Given the description of an element on the screen output the (x, y) to click on. 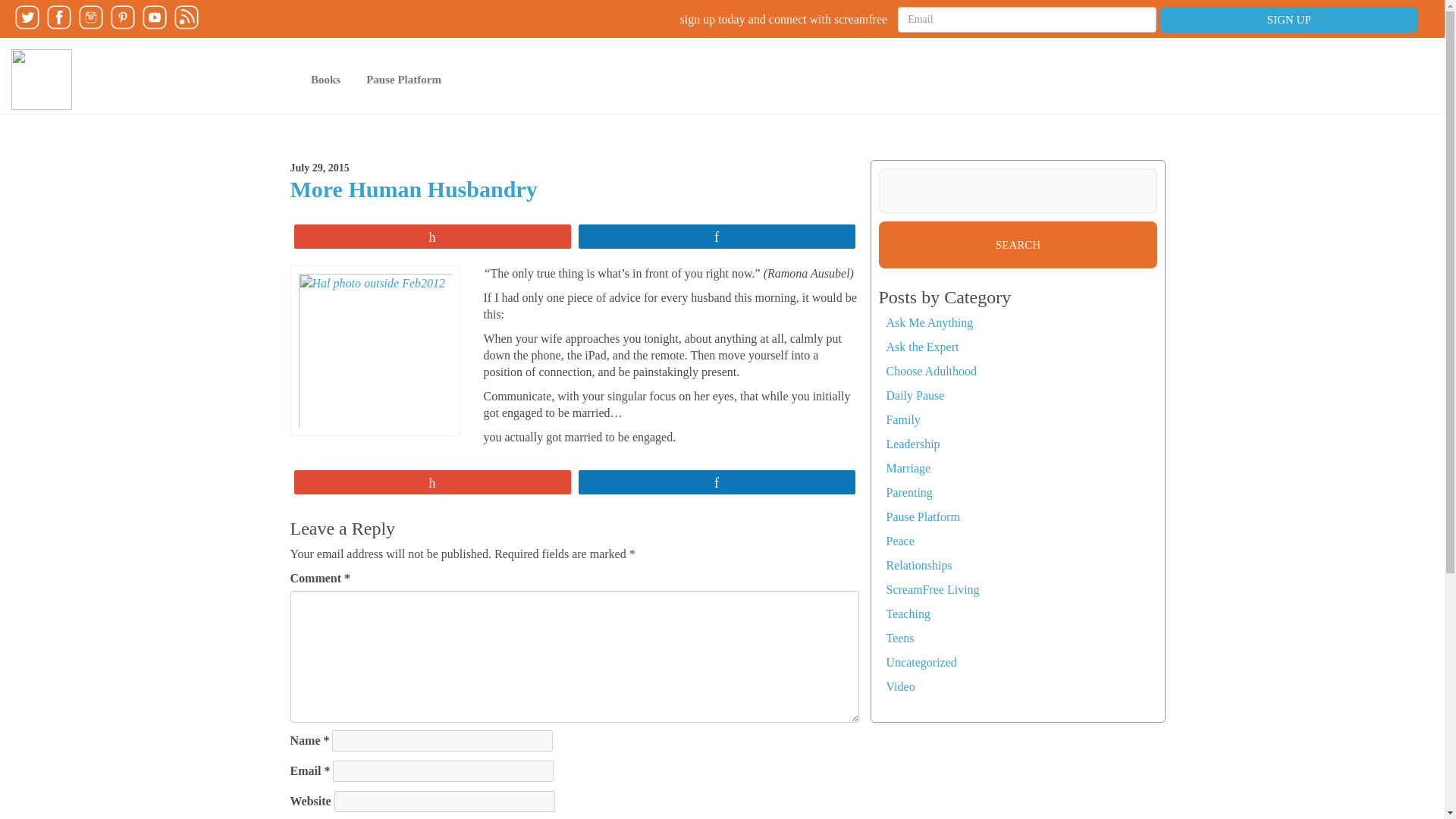
Pause Platform (403, 79)
Pause Platform (922, 516)
Books (325, 79)
Books (325, 79)
Teaching (907, 613)
Daily Pause (914, 395)
Family (902, 419)
Marriage (907, 468)
Search (1017, 244)
Parenting (908, 492)
